Given the description of an element on the screen output the (x, y) to click on. 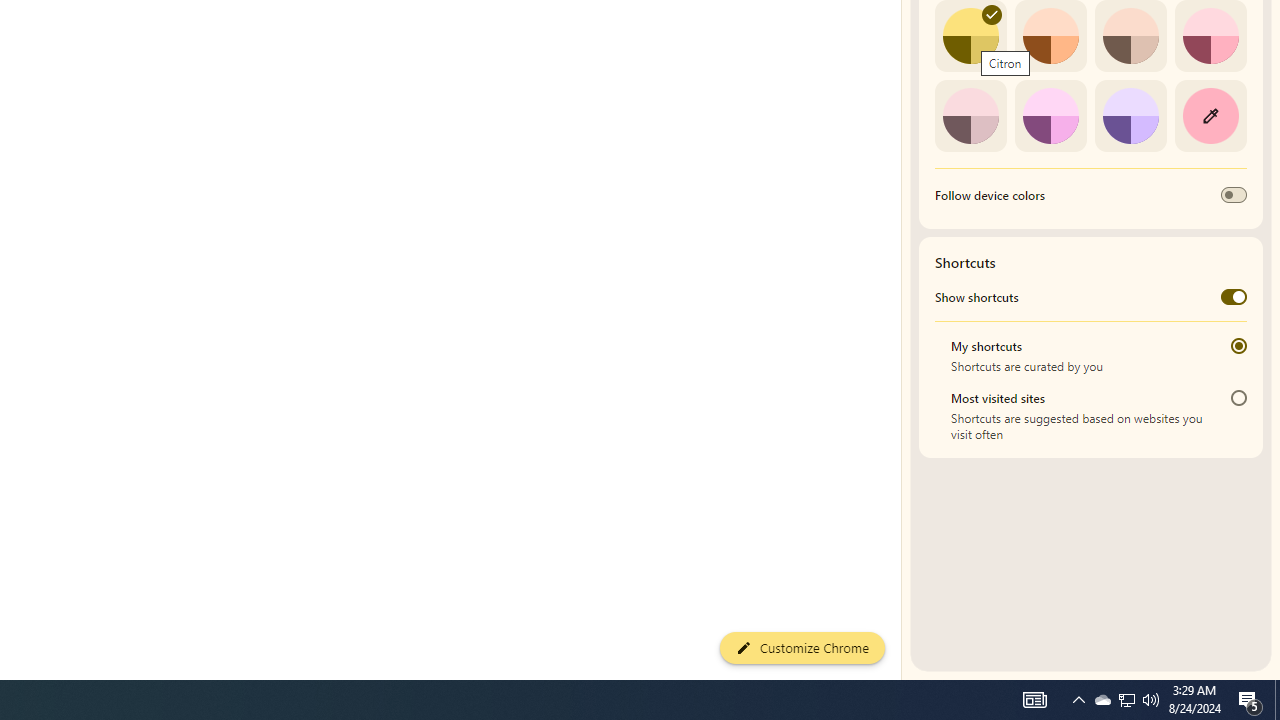
Rose (1210, 36)
Apricot (1130, 36)
Show shortcuts (1233, 296)
Pink (970, 115)
Follow device colors (1233, 195)
Custom color (1210, 115)
Side Panel Resize Handle (905, 39)
My shortcuts (1238, 345)
Fuchsia (1050, 115)
AutomationID: svg (991, 15)
Orange (1050, 36)
Citron (970, 36)
Most visited sites (1238, 398)
